Given the description of an element on the screen output the (x, y) to click on. 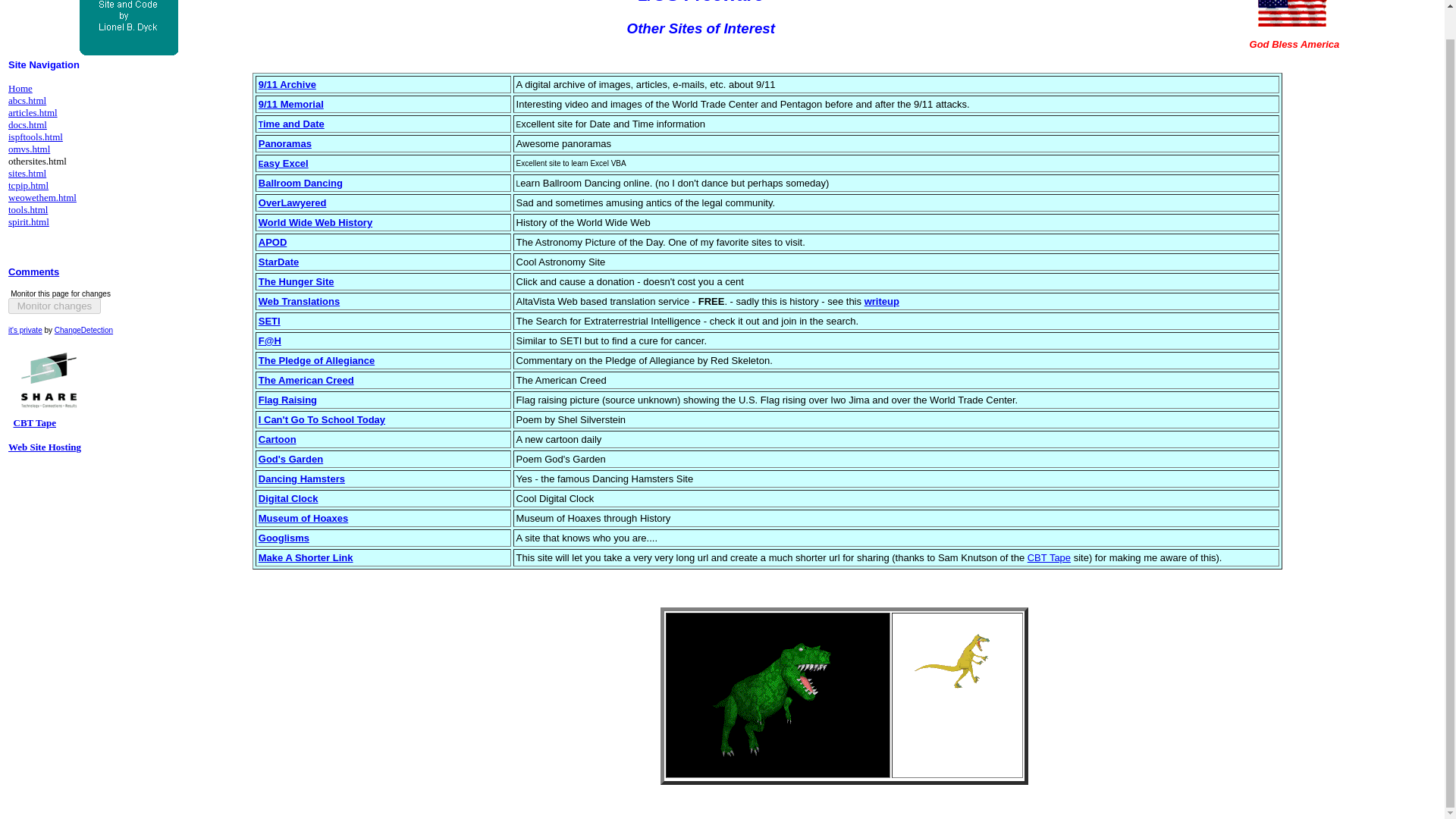
 Monitor changes  (54, 305)
writeup (881, 301)
ChangeDetection (84, 329)
weowethem.html (42, 197)
World Wide Web History (315, 222)
OverLawyered (292, 201)
docs.html (27, 124)
God's Garden (291, 459)
Time and Date (291, 124)
The Hunger Site (296, 281)
tcpip.html (28, 184)
omvs.html (28, 148)
SETI (270, 320)
sites.html (27, 173)
Web Site Hosting (44, 446)
